Given the description of an element on the screen output the (x, y) to click on. 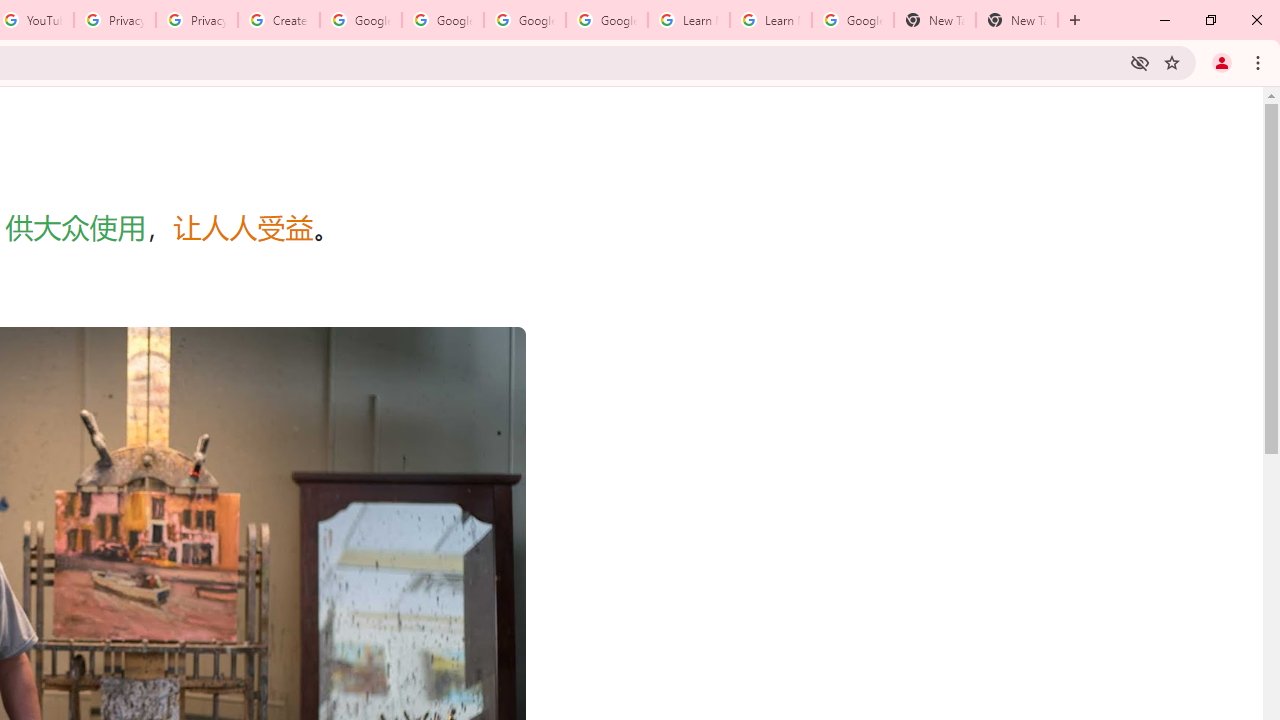
Google Account Help (524, 20)
Google Account Help (606, 20)
Google Account Help (360, 20)
